Given the description of an element on the screen output the (x, y) to click on. 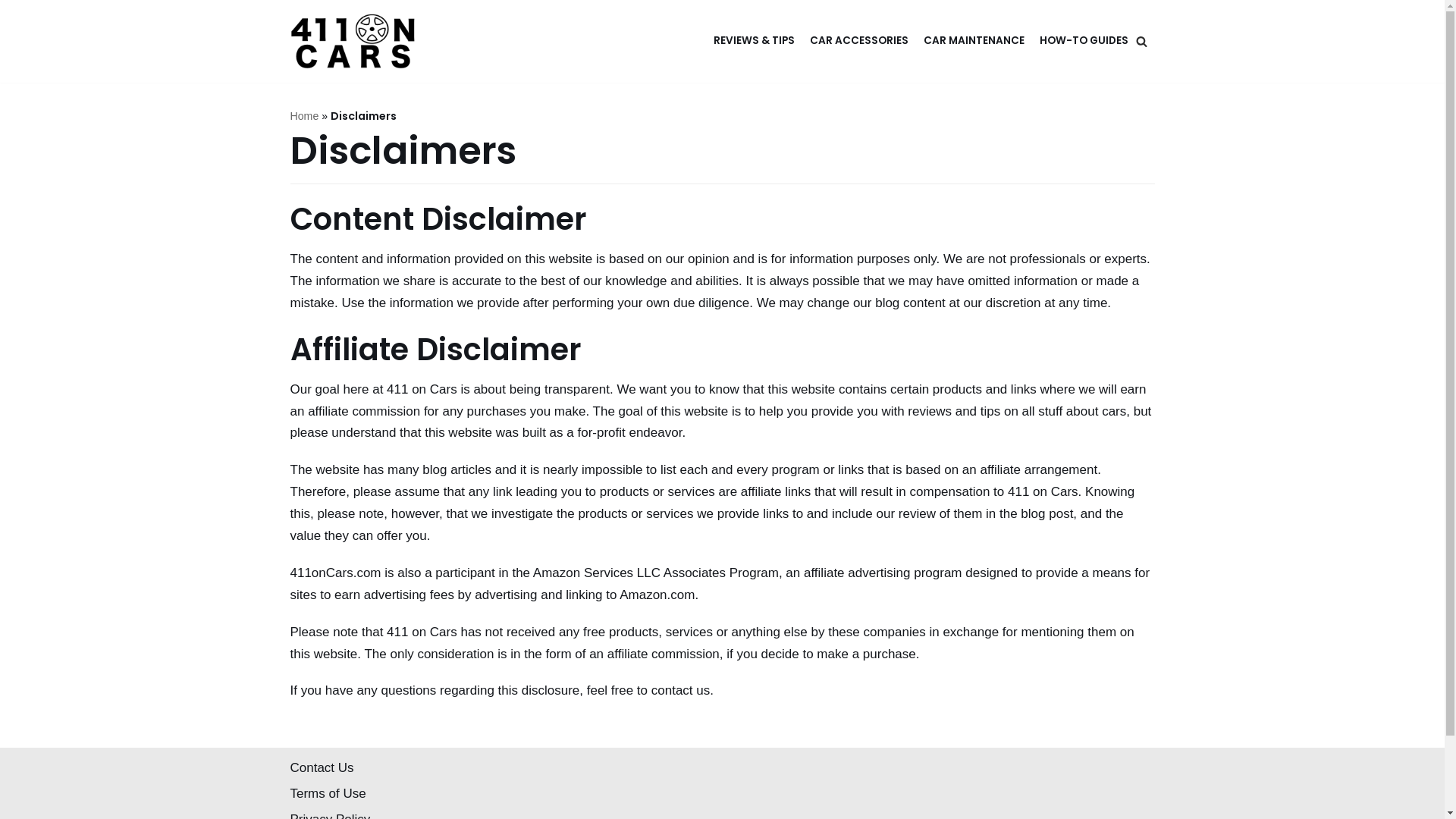
Contact Us Element type: text (321, 767)
REVIEWS & TIPS Element type: text (752, 40)
HOW-TO GUIDES Element type: text (1082, 40)
Skip to content Element type: text (15, 31)
CAR ACCESSORIES Element type: text (858, 40)
Home Element type: text (303, 115)
Terms of Use Element type: text (327, 793)
411onCars.com Element type: hover (351, 41)
CAR MAINTENANCE Element type: text (973, 40)
Search Element type: text (1137, 410)
